Given the description of an element on the screen output the (x, y) to click on. 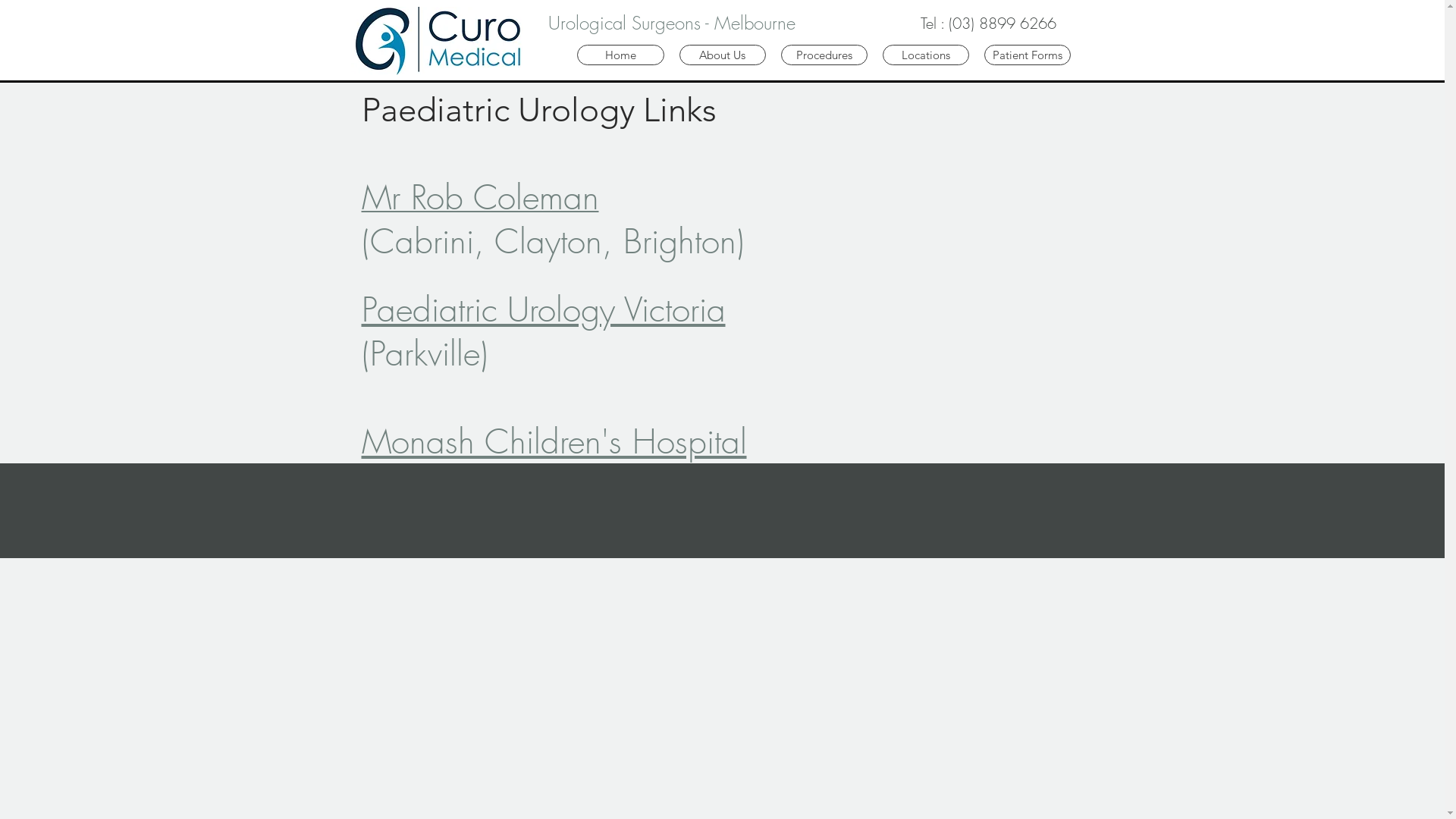
Home Element type: text (619, 54)
Mr Rob Coleman Element type: text (479, 202)
Monash Children's Hospital Element type: text (553, 441)
Paediatric Urology Victoria Element type: text (542, 309)
Locations Element type: text (925, 54)
Tel : (03) 8899 6266 Element type: text (988, 23)
Patient Forms Element type: text (1027, 54)
